Given the description of an element on the screen output the (x, y) to click on. 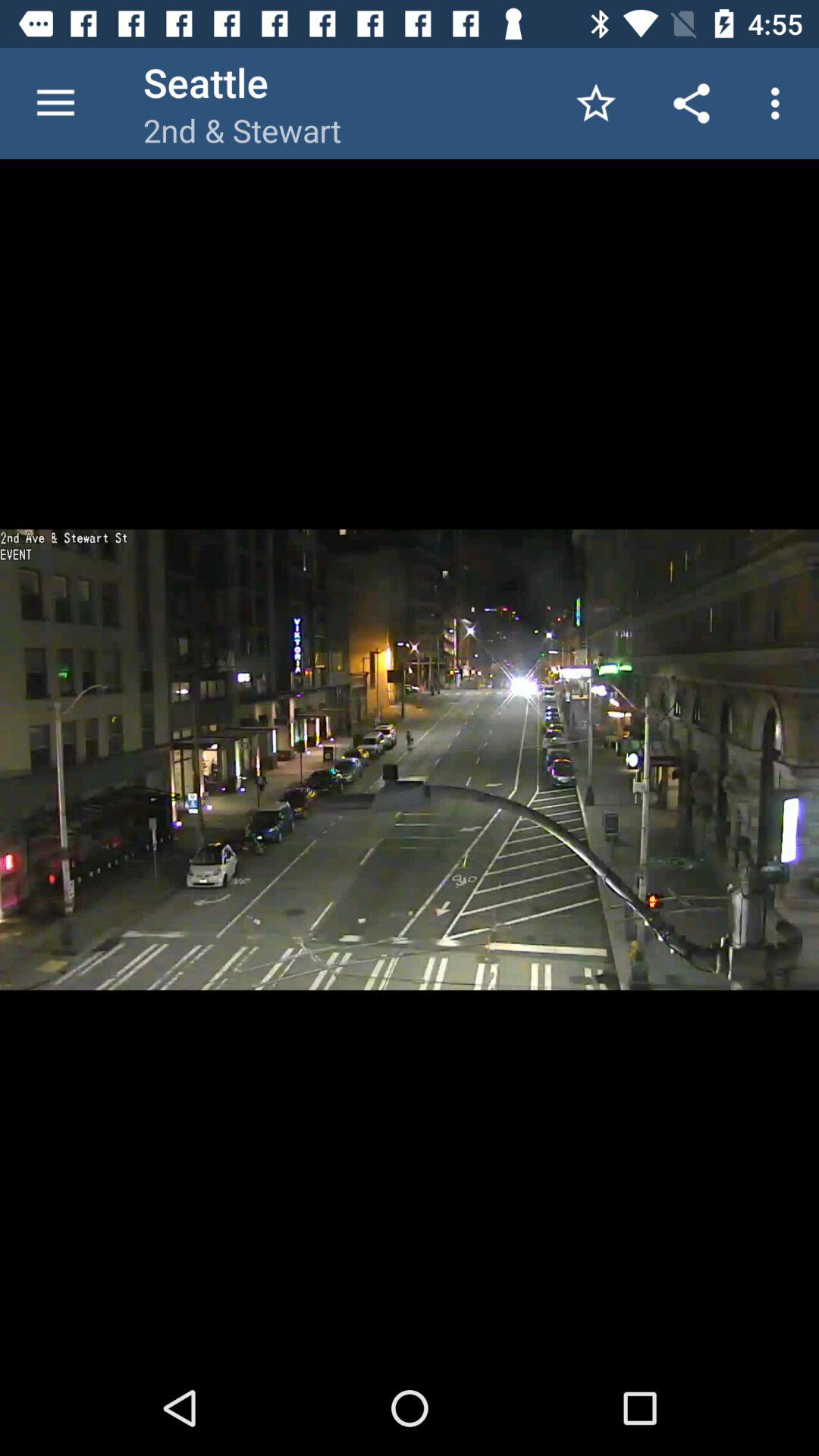
press item next to seattle icon (55, 103)
